Given the description of an element on the screen output the (x, y) to click on. 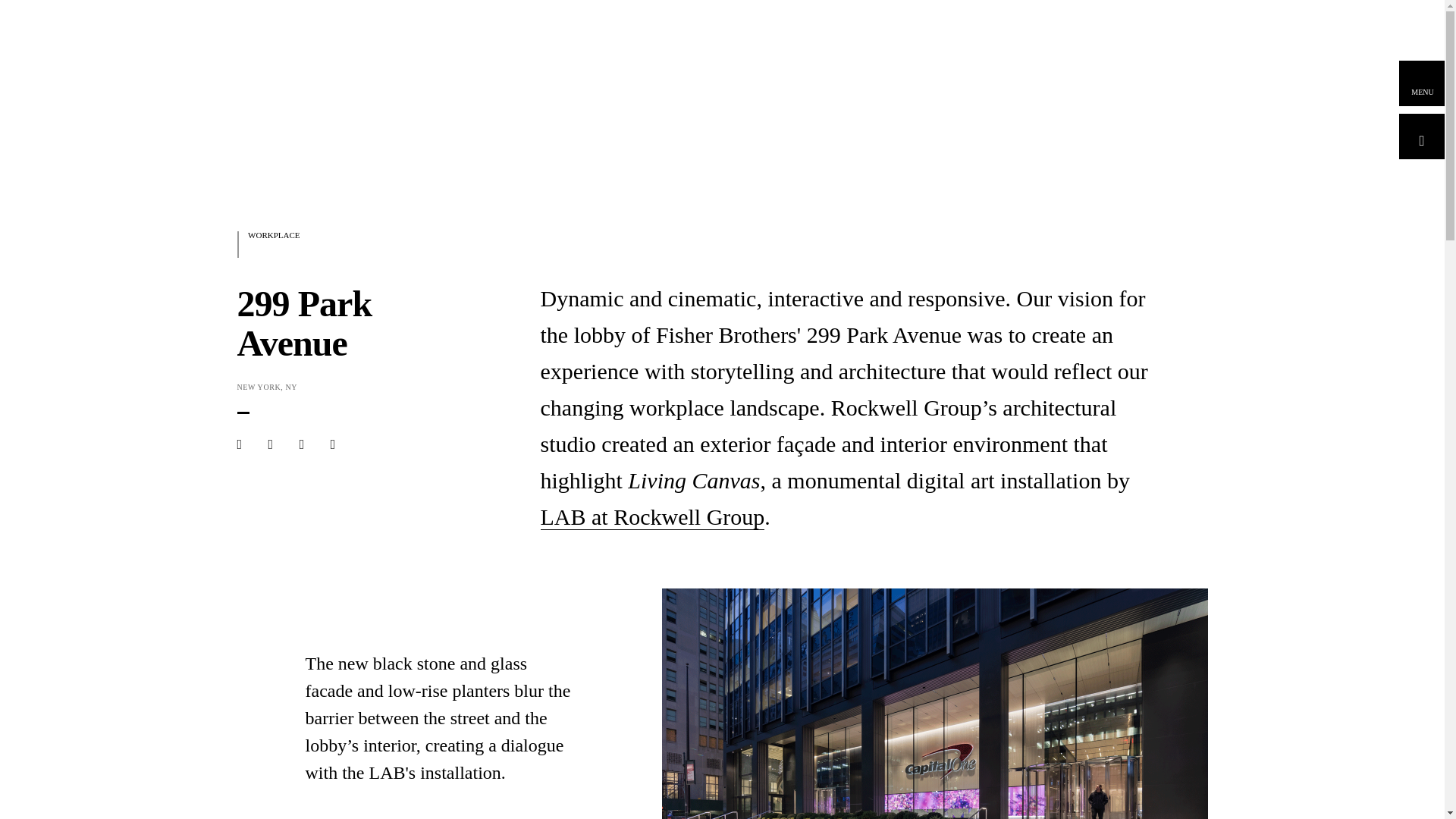
Home (311, 79)
Rockwell Group (311, 79)
LAB at Rockwell Group (652, 516)
